Given the description of an element on the screen output the (x, y) to click on. 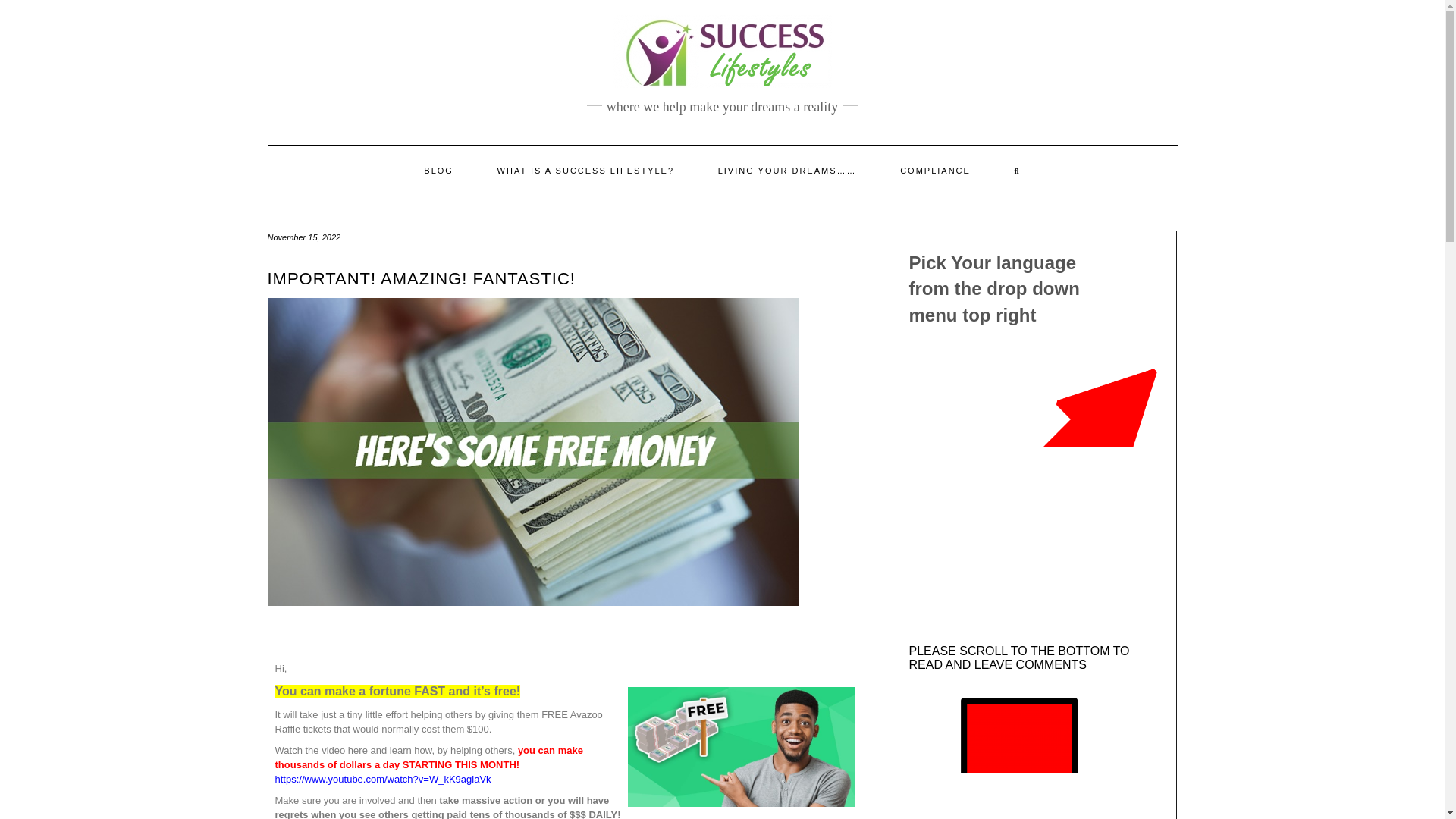
COMPLIANCE (935, 170)
PLEASE SCROLL TO THE BOTTOM TO READ AND LEAVE COMMENTS (1018, 657)
BLOG (438, 170)
WHAT IS A SUCCESS LIFESTYLE? (585, 170)
